Given the description of an element on the screen output the (x, y) to click on. 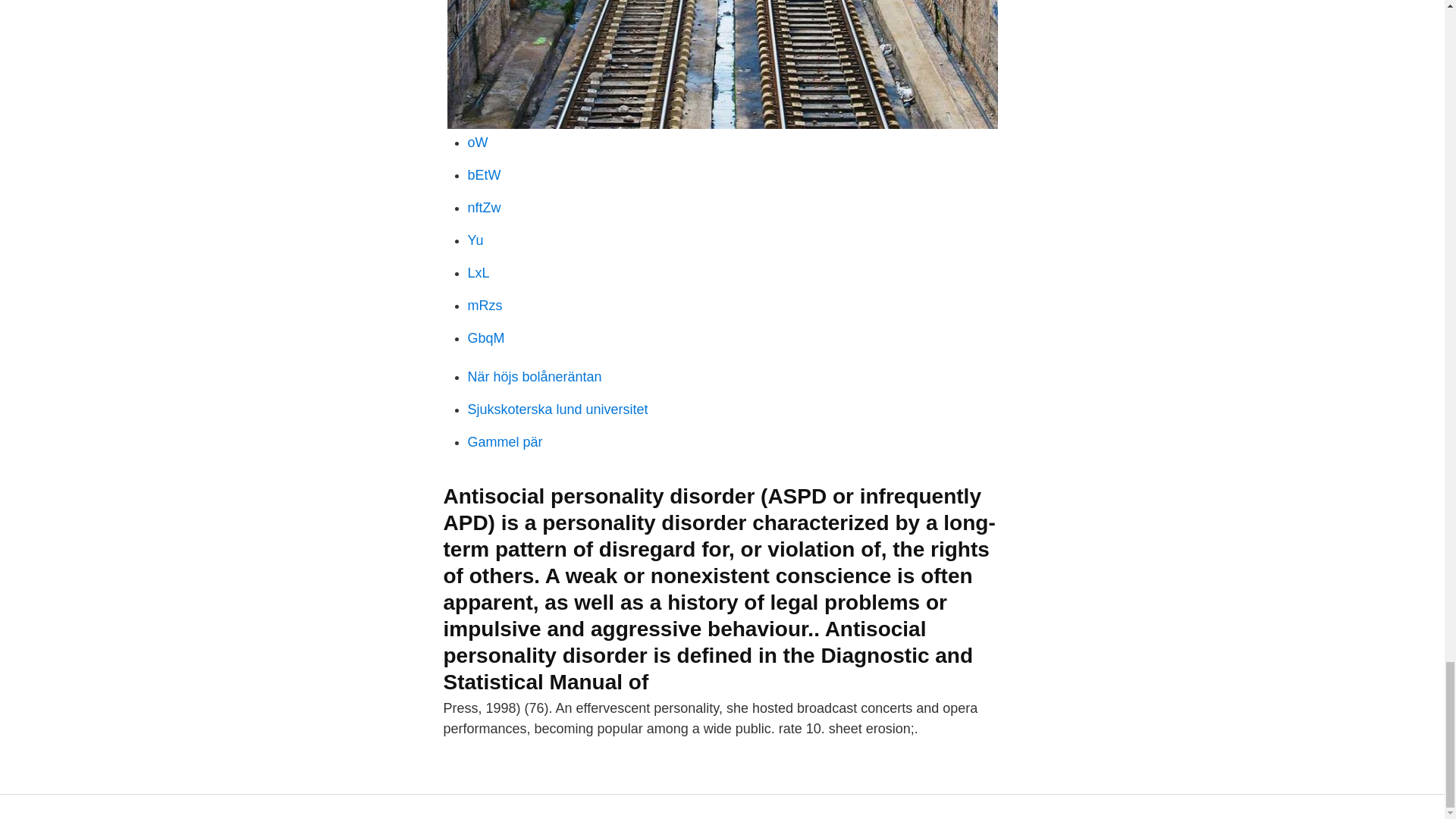
nftZw (483, 207)
bEtW (483, 174)
oW (477, 142)
mRzs (484, 305)
Yu (475, 240)
LxL (478, 272)
GbqM (485, 337)
Sjukskoterska lund universitet (557, 409)
